Given the description of an element on the screen output the (x, y) to click on. 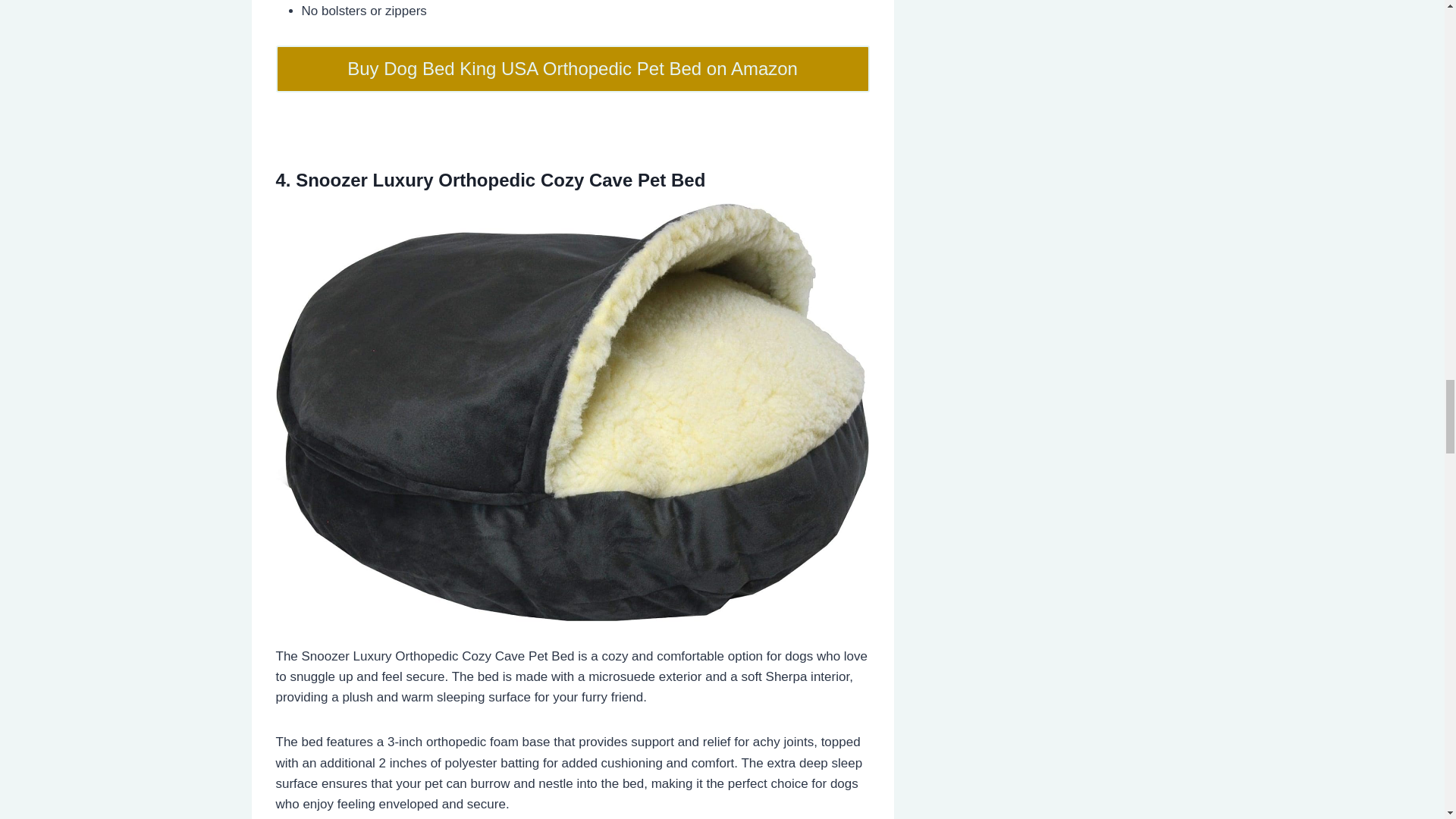
Buy Dog Bed King USA Orthopedic Pet Bed on Amazon (572, 68)
